Given the description of an element on the screen output the (x, y) to click on. 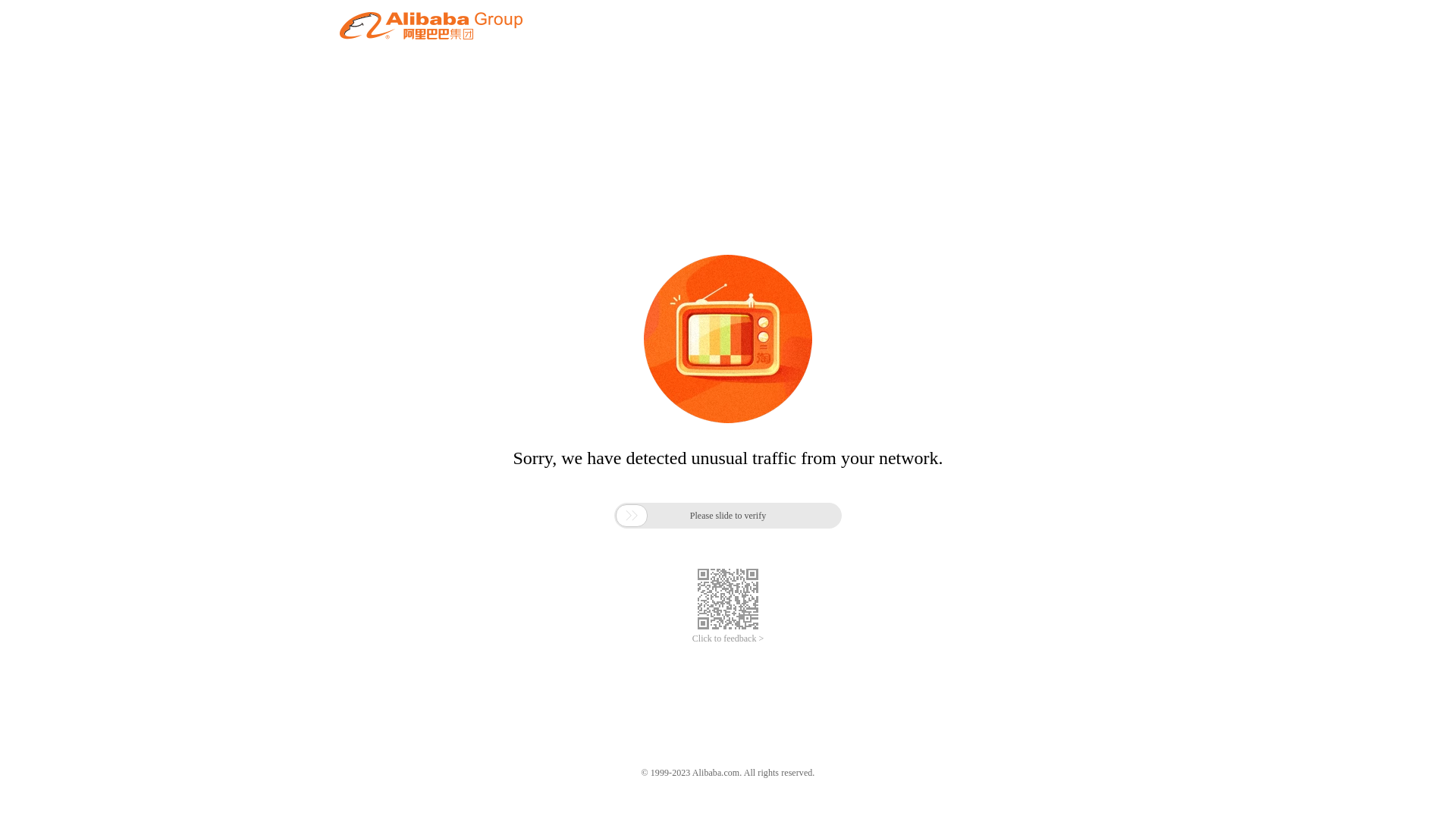
Click to feedback > Element type: text (727, 638)
